Given the description of an element on the screen output the (x, y) to click on. 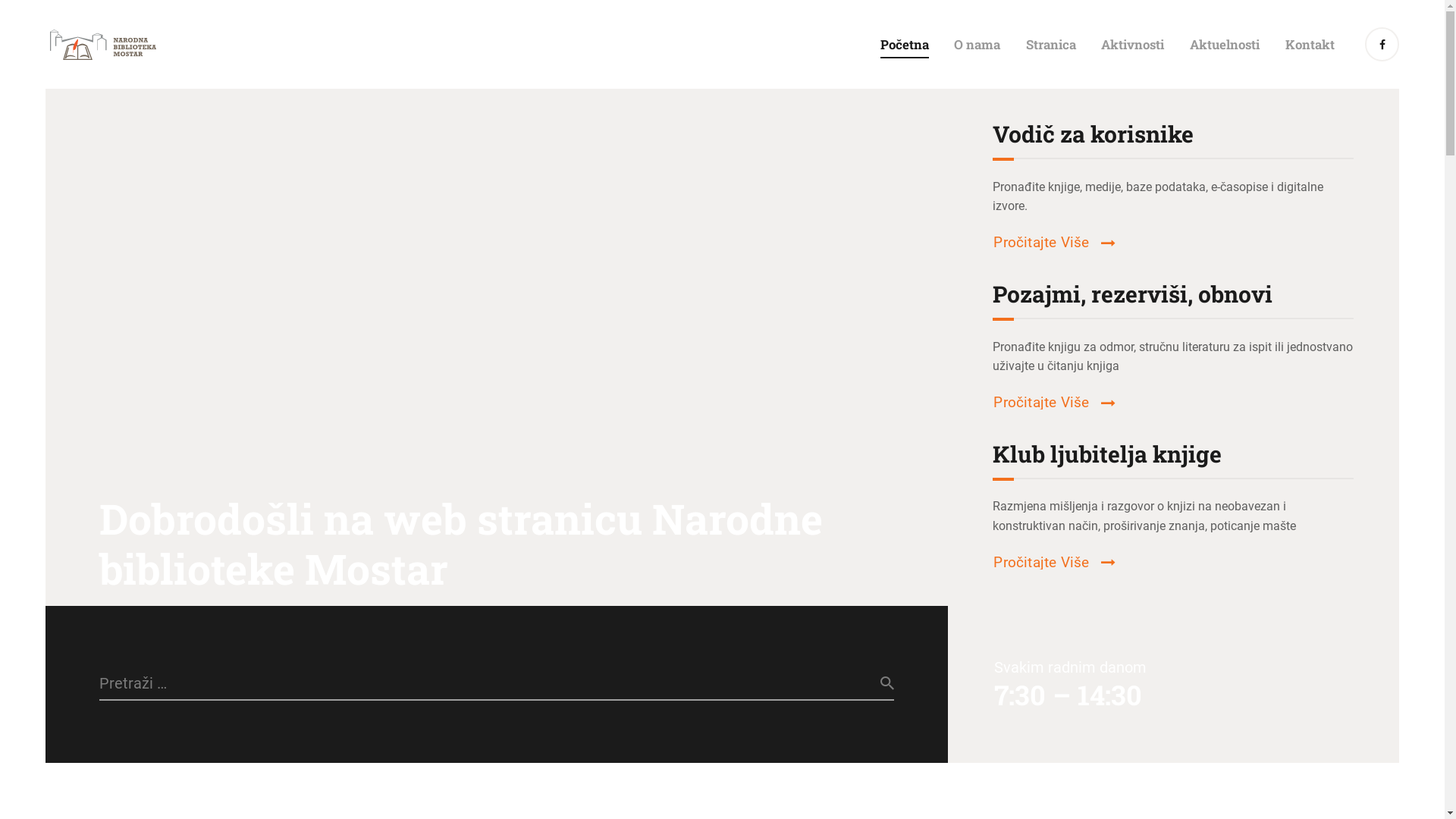
Kontakt Element type: text (1309, 43)
O nama Element type: text (977, 43)
Stranica Element type: text (1050, 43)
Aktivnosti Element type: text (1132, 43)
Aktuelnosti Element type: text (1224, 43)
Pretraga Element type: text (872, 684)
